Given the description of an element on the screen output the (x, y) to click on. 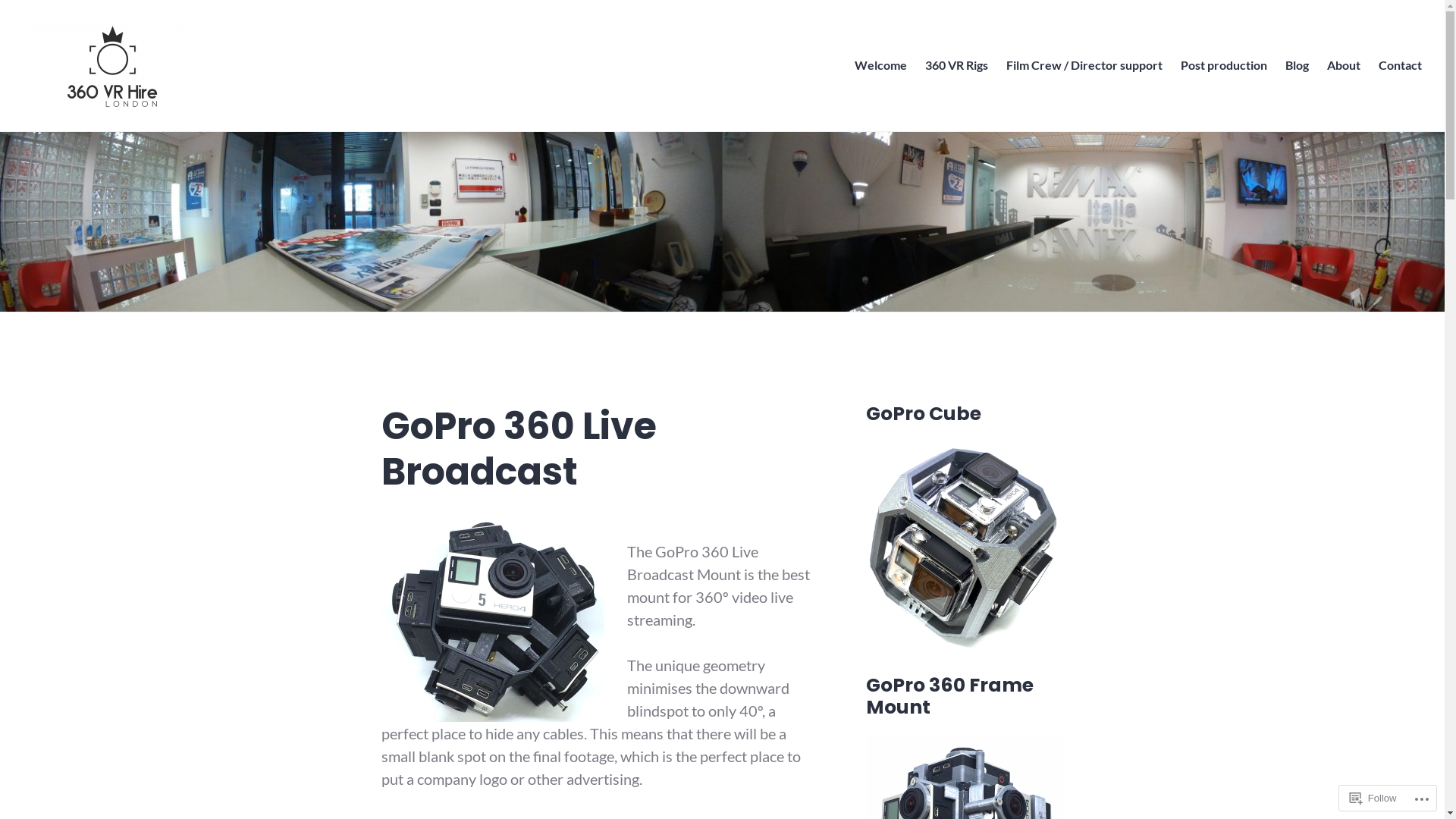
Follow Element type: text (1372, 797)
Blog Element type: text (1296, 65)
About Element type: text (1343, 65)
Film Crew / Director support Element type: text (1084, 65)
360 VR Rigs Element type: text (956, 65)
360 VR Hire London Element type: text (115, 129)
Post production Element type: text (1223, 65)
Contact Element type: text (1399, 65)
Welcome Element type: text (880, 65)
